Given the description of an element on the screen output the (x, y) to click on. 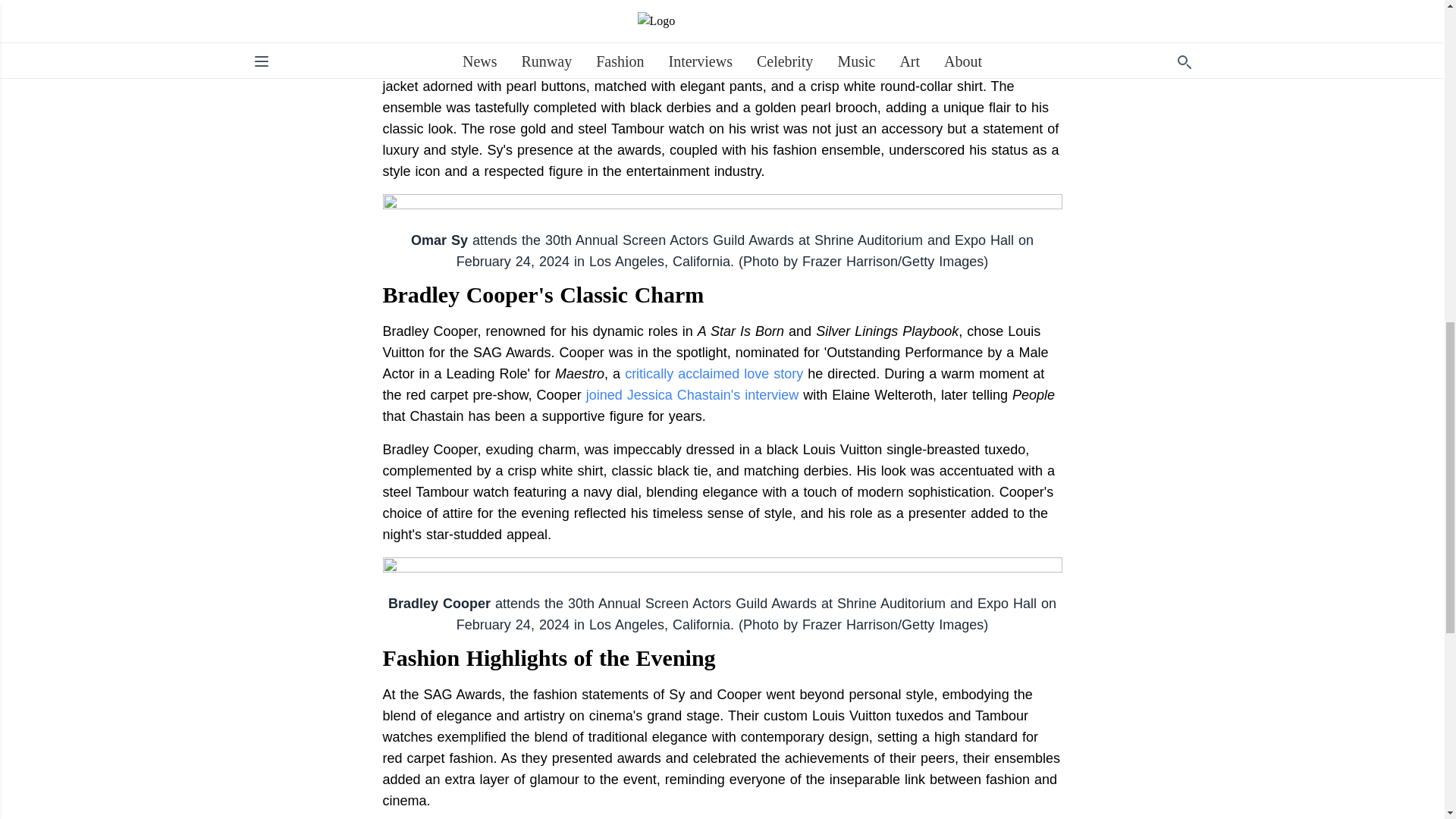
critically acclaimed love story (713, 373)
joined Jessica Chastain's interview (692, 394)
